Given the description of an element on the screen output the (x, y) to click on. 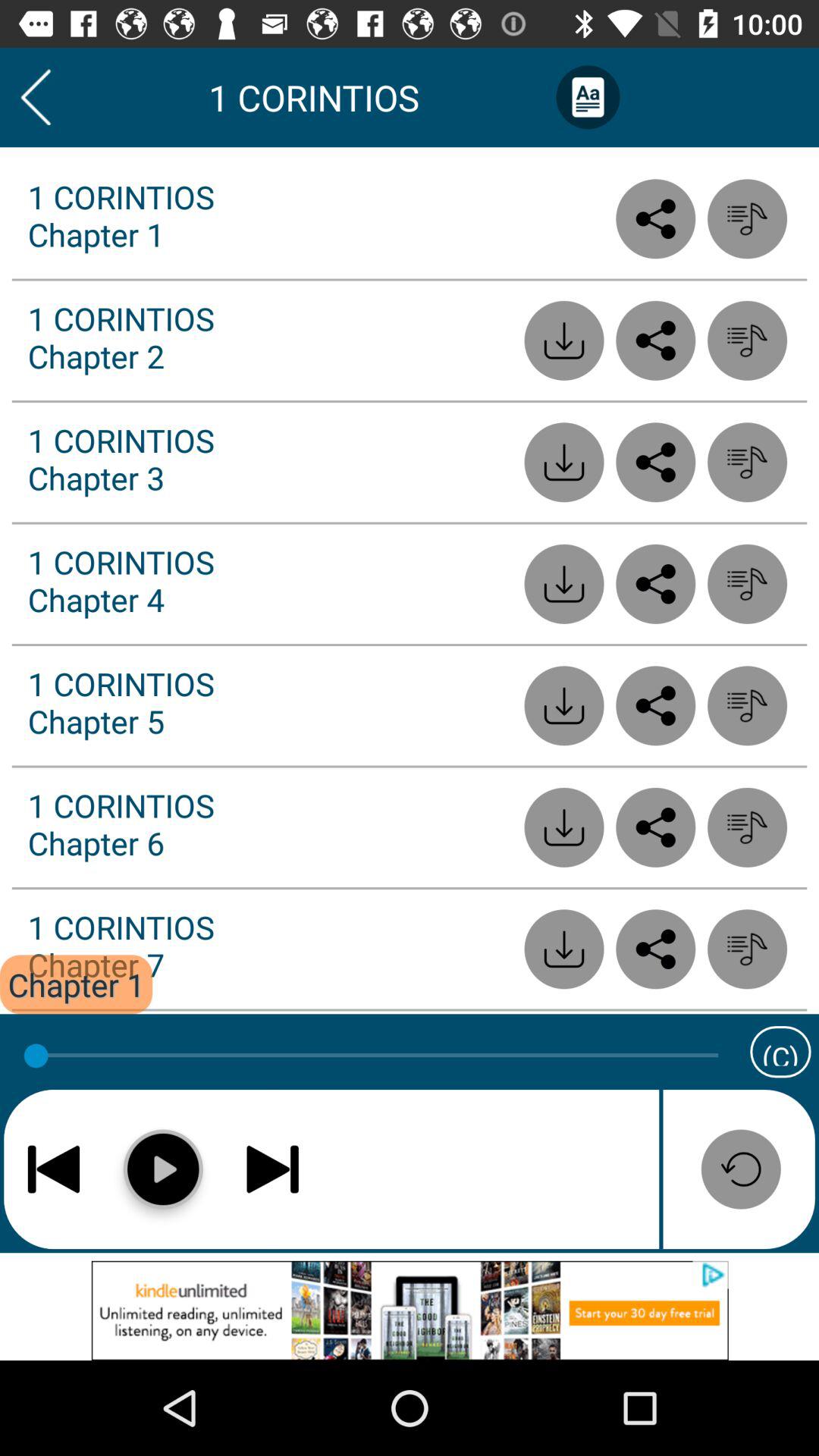
share the chapter (655, 949)
